Given the description of an element on the screen output the (x, y) to click on. 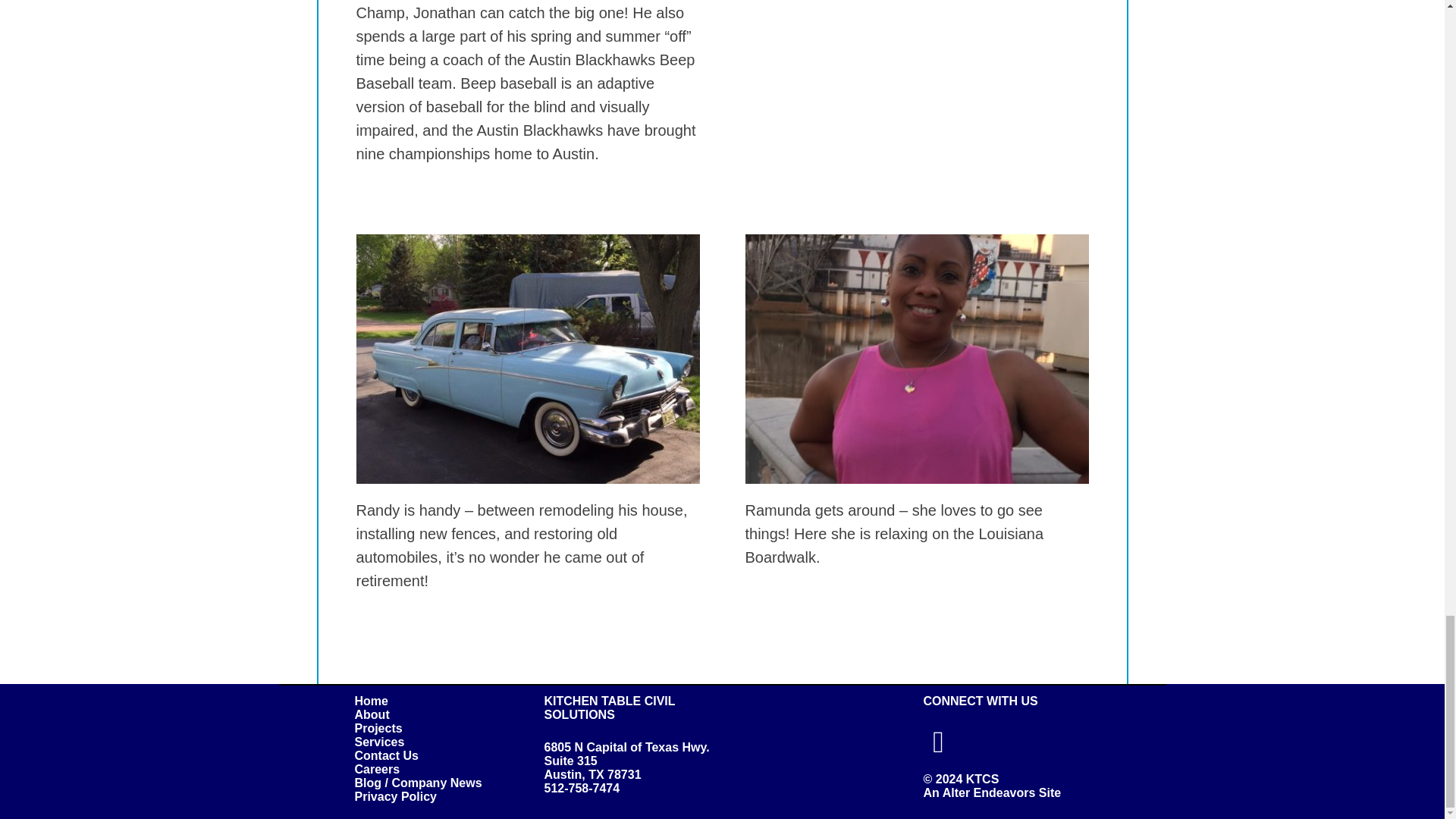
Careers (377, 768)
Projects (379, 727)
About (372, 714)
Contact Us (387, 755)
Follow Kitchen Table Civil Solutions on LinkedIn (938, 740)
Services (379, 741)
Home (371, 700)
